Given the description of an element on the screen output the (x, y) to click on. 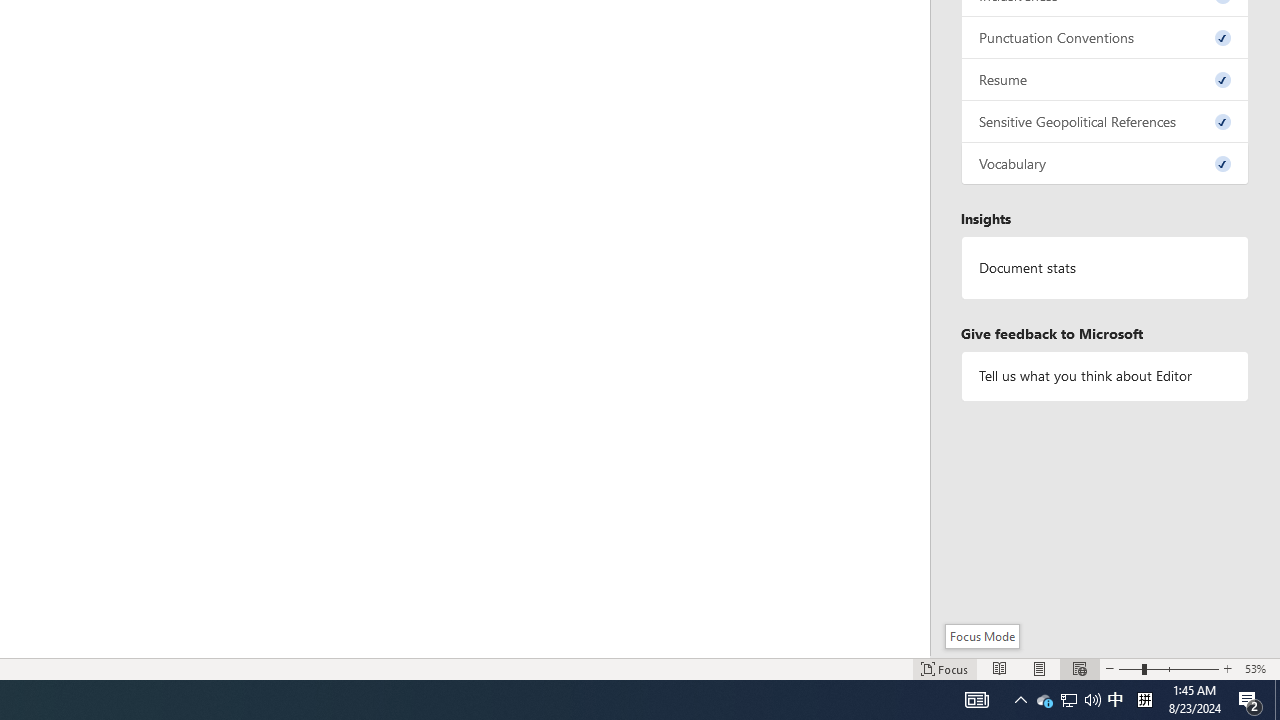
Vocabulary, 0 issues. Press space or enter to review items. (1105, 163)
Resume, 0 issues. Press space or enter to review items. (1105, 79)
Tell us what you think about Editor (1105, 376)
Zoom 53% (1258, 668)
Document statistics (1105, 267)
Focus Mode (982, 636)
